Given the description of an element on the screen output the (x, y) to click on. 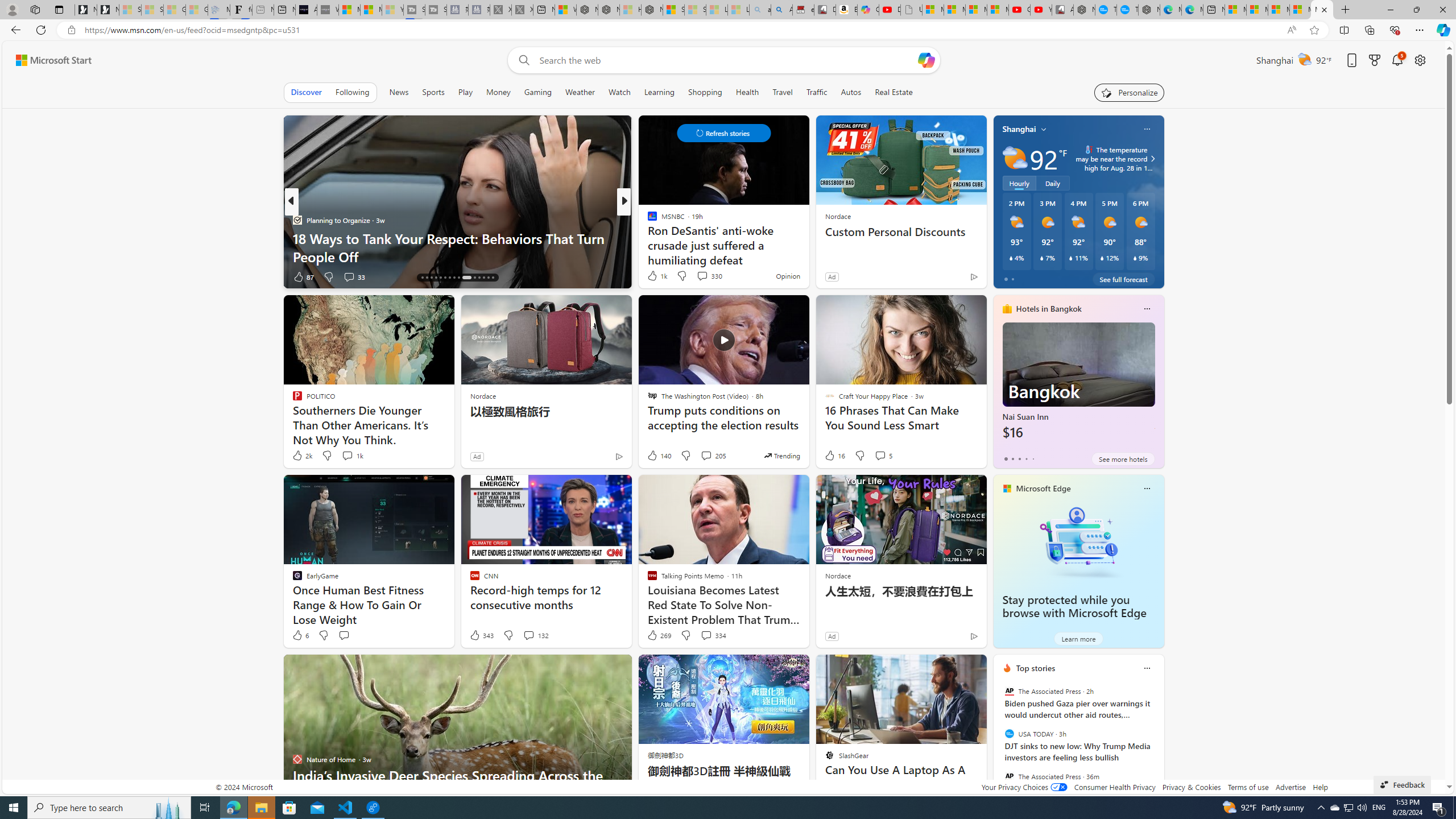
The most popular Google 'how to' searches (1127, 9)
AutomationID: tab-26 (474, 277)
Travel (782, 92)
Start the conversation (343, 634)
Microsoft Edge (1043, 488)
Amazon Echo Dot PNG - Search Images (781, 9)
AutomationID: tab-28 (483, 277)
Terms of use (1247, 786)
Back (13, 29)
View comments 205 Comment (705, 455)
Nordace - Nordace Siena Is Not An Ordinary Backpack (652, 9)
AutomationID: tab-19 (435, 277)
